Given the description of an element on the screen output the (x, y) to click on. 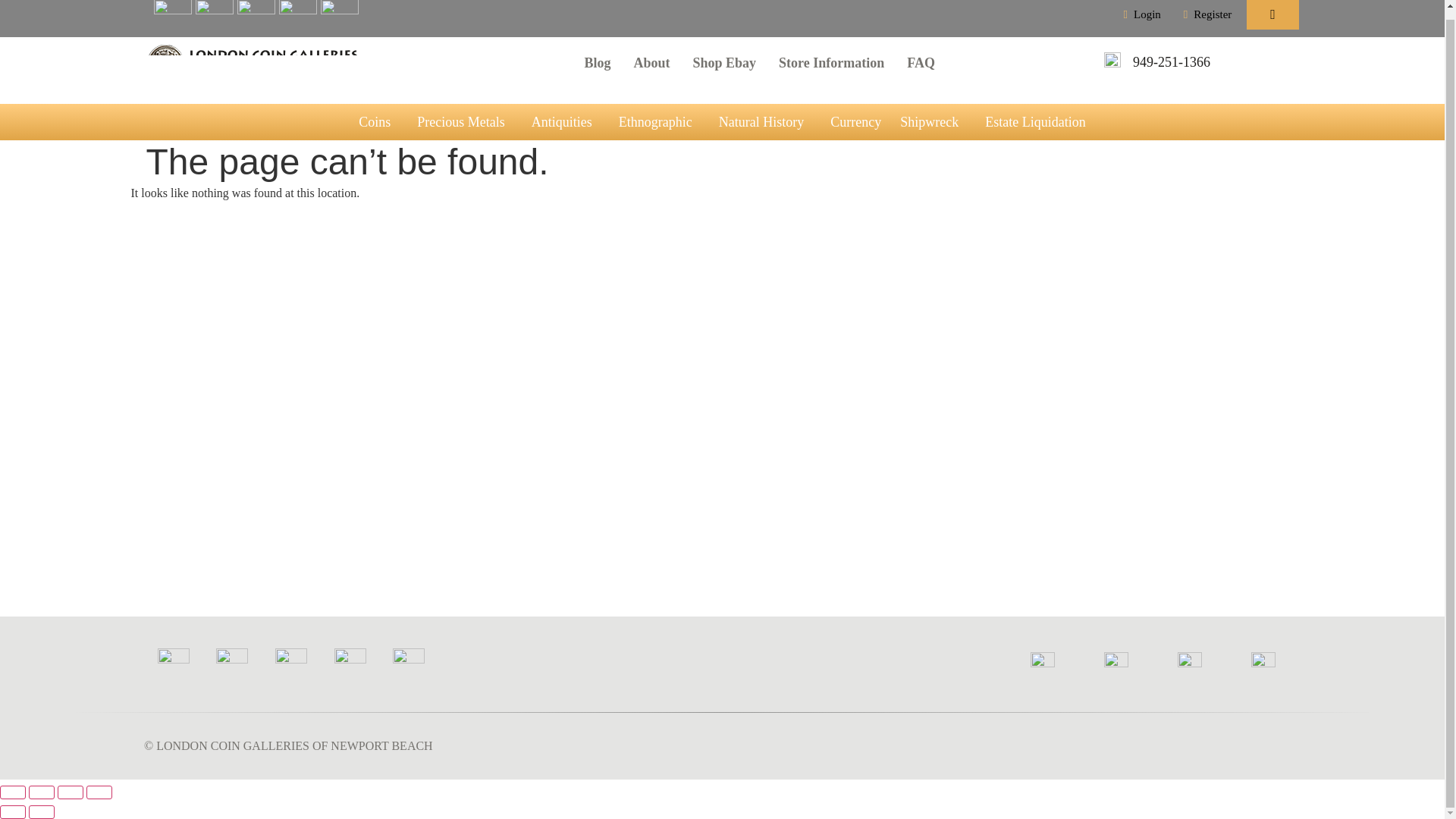
Shop Ebay (724, 63)
Precious Metals (464, 122)
Coins (378, 122)
FAQ (920, 63)
Store Information (831, 63)
About (651, 63)
Login (1142, 14)
949-251-1366 (1170, 61)
Blog (596, 63)
Register (1207, 13)
